Given the description of an element on the screen output the (x, y) to click on. 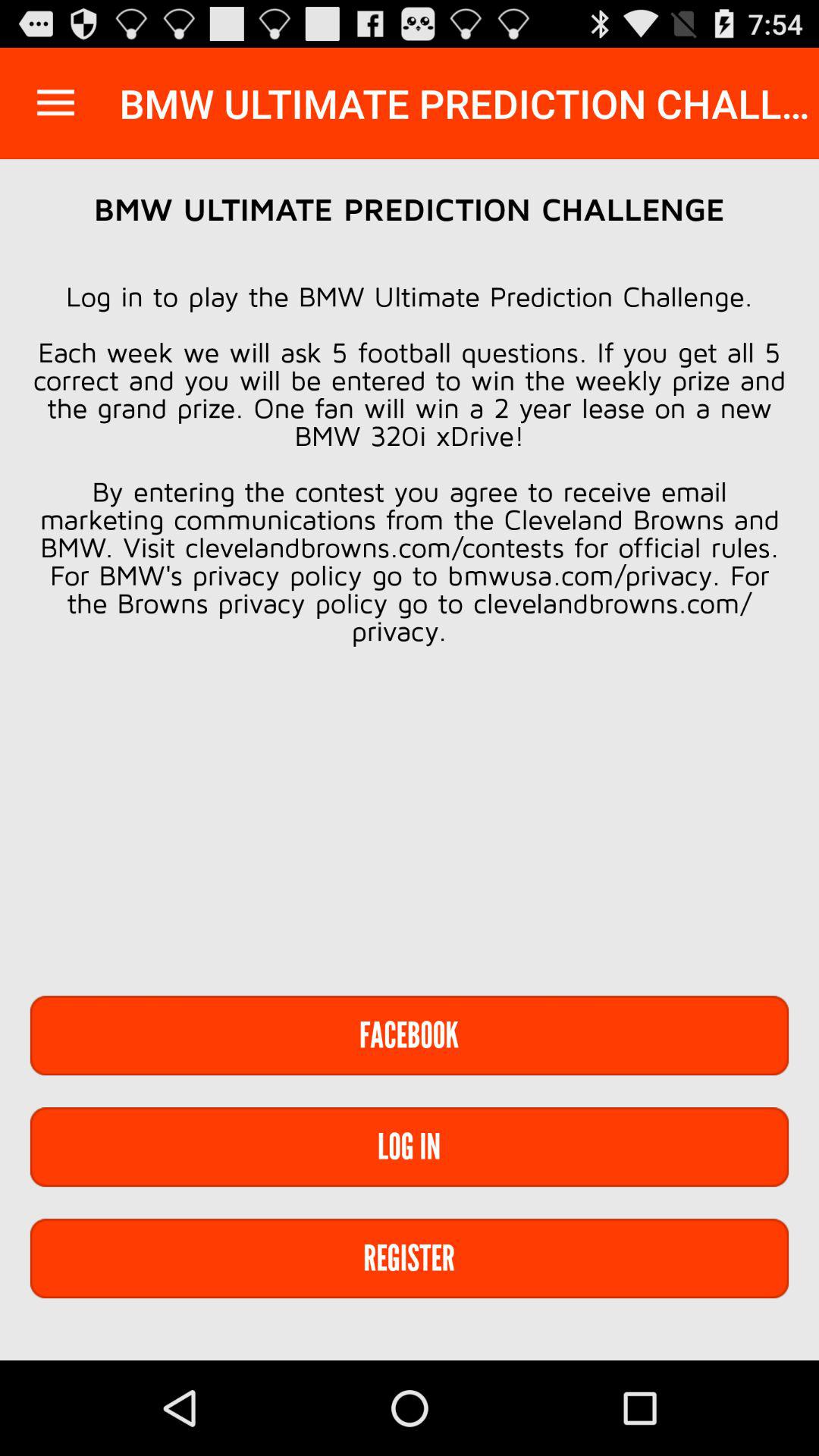
select the item next to the bmw ultimate prediction item (55, 103)
